Given the description of an element on the screen output the (x, y) to click on. 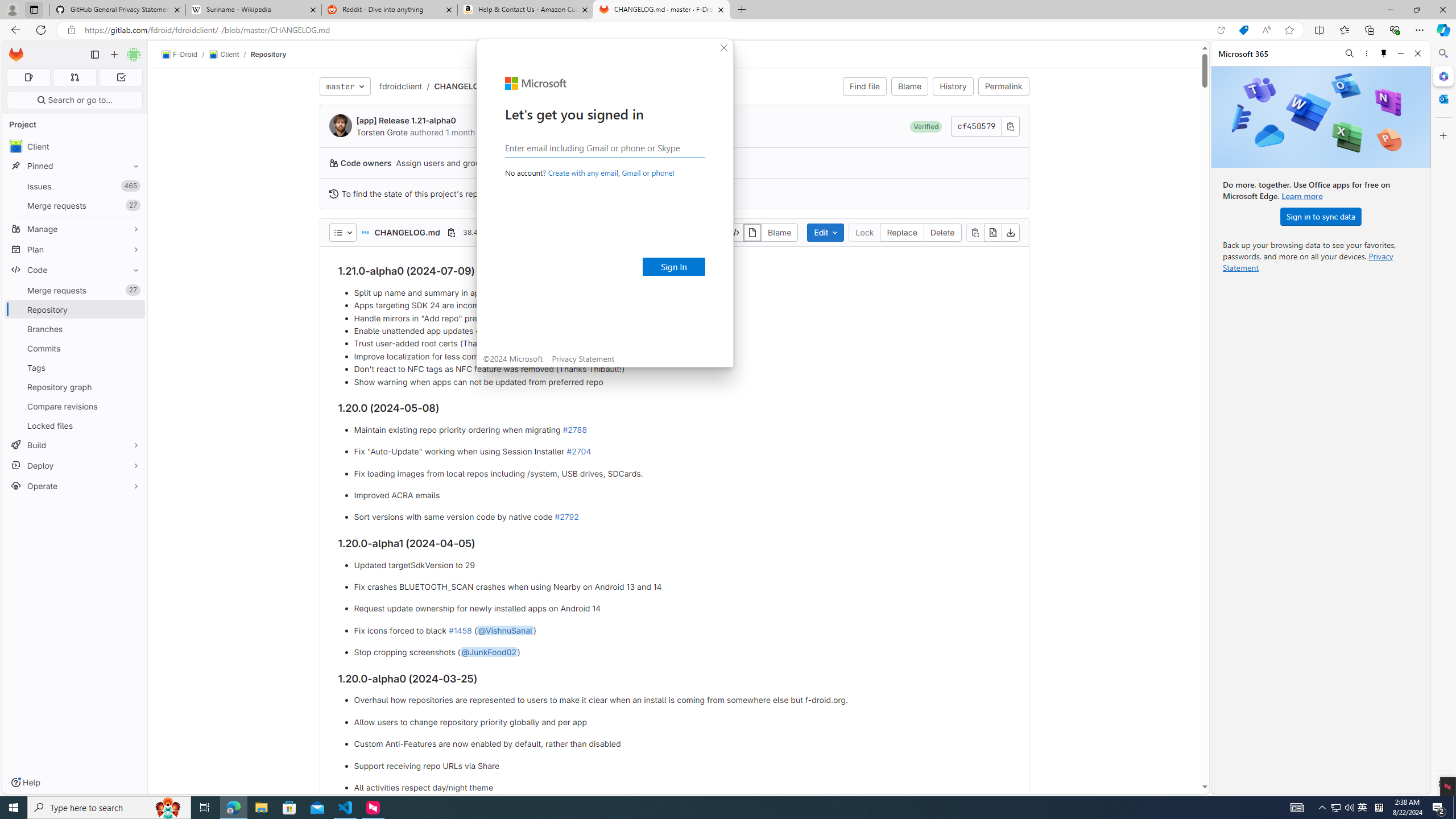
Homepage (16, 54)
#2704 (578, 451)
Delete (942, 232)
Plan (74, 248)
Replace (901, 232)
Read aloud this page (Ctrl+Shift+U) (1266, 29)
Torsten Grote (381, 131)
Operate (74, 485)
Branches (74, 328)
Visual Studio Code - 1 running window (345, 807)
Client/ (229, 54)
Running applications (707, 807)
Repository (268, 53)
